Given the description of an element on the screen output the (x, y) to click on. 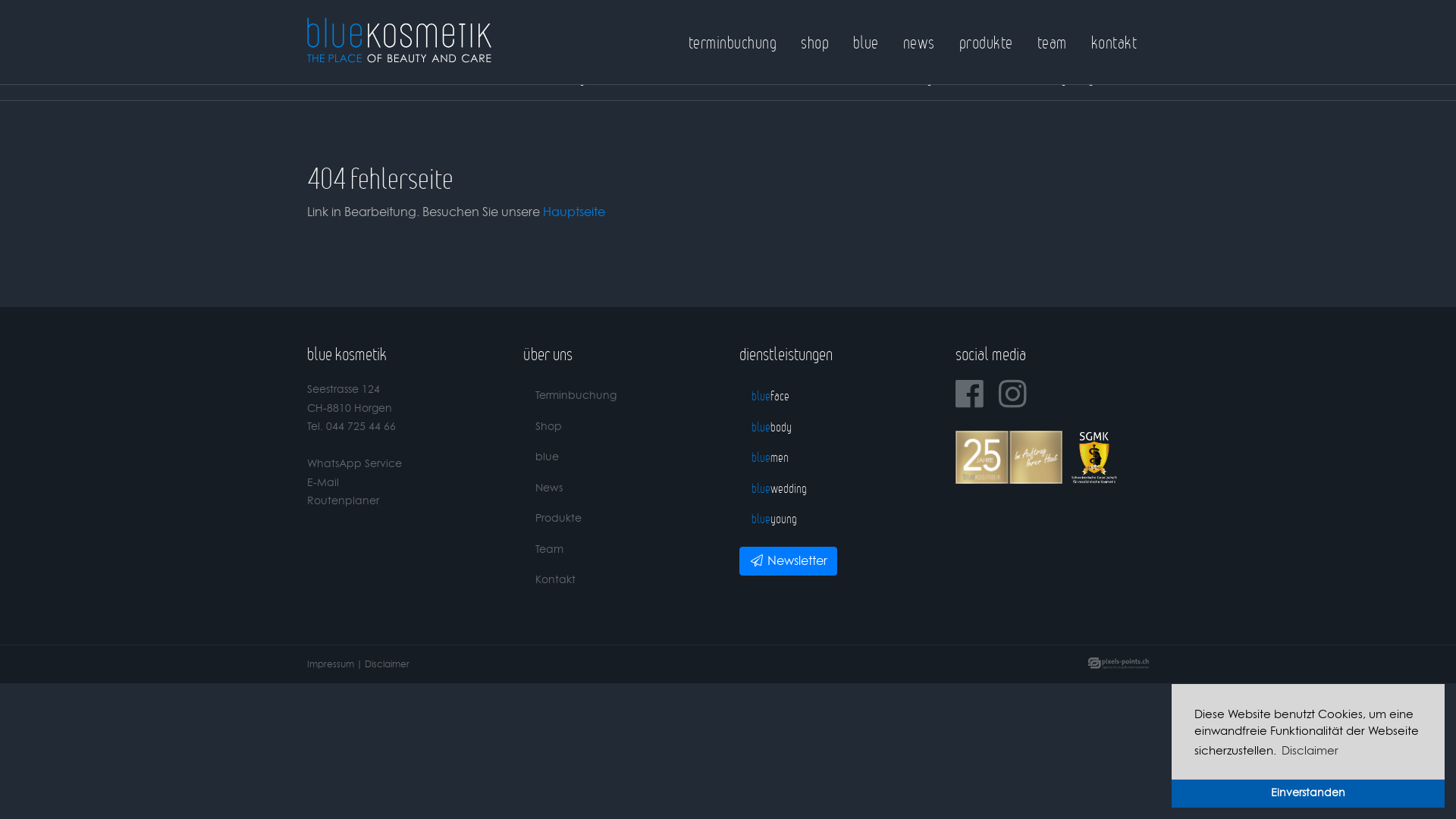
Terminbuchung Element type: text (619, 395)
terminbuchung Element type: text (732, 42)
news Element type: text (919, 42)
Kontakt Element type: text (619, 580)
Newsletter Element type: text (788, 560)
blueyoung Element type: text (1064, 76)
blue Element type: text (865, 42)
bluewedding Element type: text (896, 76)
Routenplaner Element type: text (343, 500)
team Element type: text (1052, 42)
Produkte Element type: text (619, 518)
blueface Element type: text (835, 395)
blueyoung Element type: text (835, 518)
produkte Element type: text (986, 42)
Disclaimer Element type: text (1309, 751)
bluemen Element type: text (727, 76)
Einverstanden Element type: text (1307, 793)
kontakt Element type: text (1113, 42)
bluebody Element type: text (835, 426)
shop Element type: text (814, 42)
Impressum Element type: text (330, 663)
blue Element type: text (619, 457)
WhatsApp Service Element type: text (354, 463)
E-Mail Element type: text (322, 482)
Hauptseite Element type: text (573, 212)
blueface Element type: text (391, 76)
Disclaimer Element type: text (386, 663)
Team Element type: text (619, 549)
bluebody Element type: text (559, 76)
Shop Element type: text (619, 426)
bluemen Element type: text (835, 457)
bluewedding Element type: text (835, 488)
News Element type: text (619, 488)
